Given the description of an element on the screen output the (x, y) to click on. 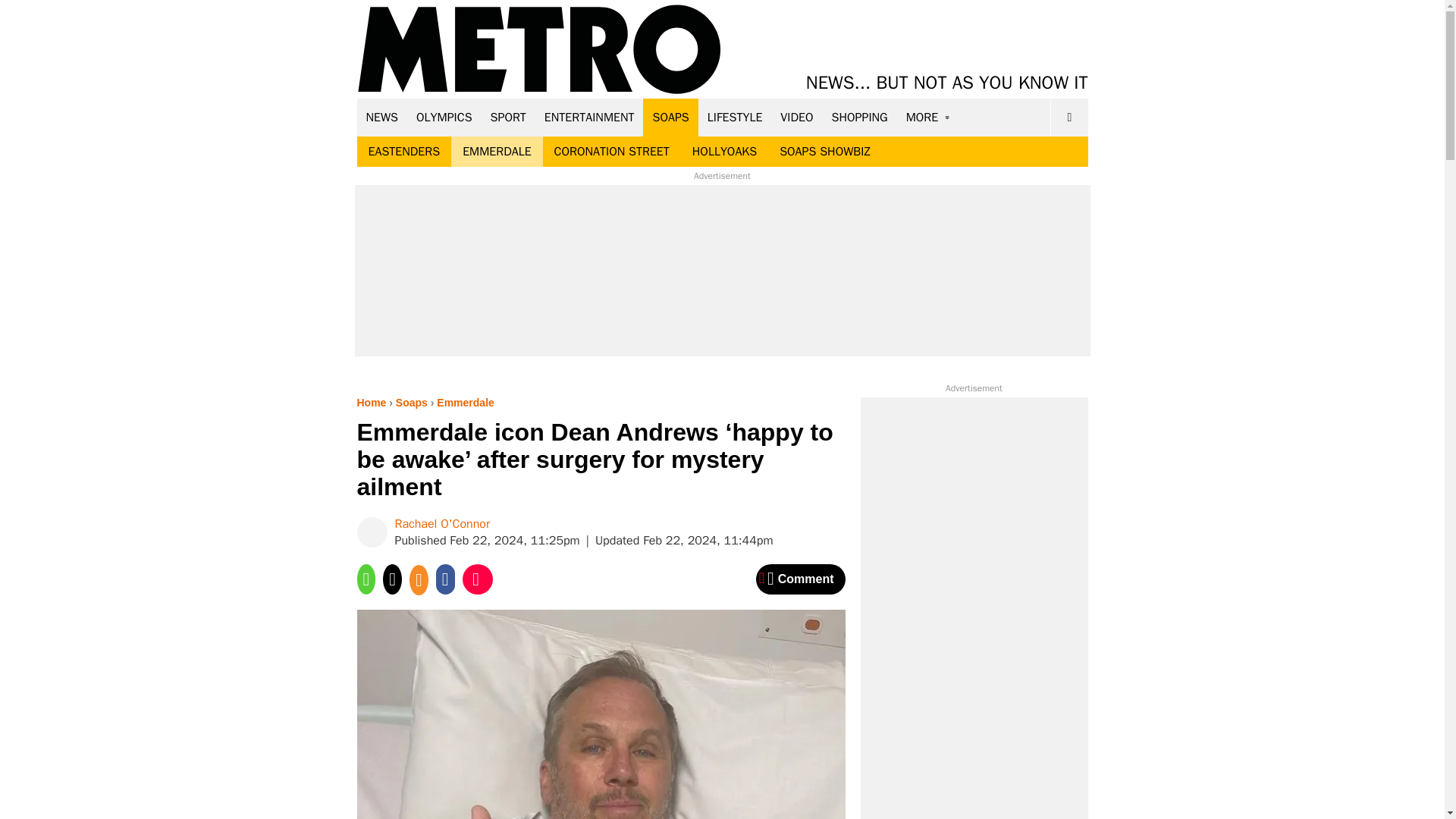
LIFESTYLE (734, 117)
ENTERTAINMENT (589, 117)
OLYMPICS (444, 117)
EMMERDALE (496, 151)
SPORT (508, 117)
SOAPS SHOWBIZ (825, 151)
NEWS (381, 117)
Metro (539, 50)
EASTENDERS (403, 151)
HOLLYOAKS (724, 151)
